Given the description of an element on the screen output the (x, y) to click on. 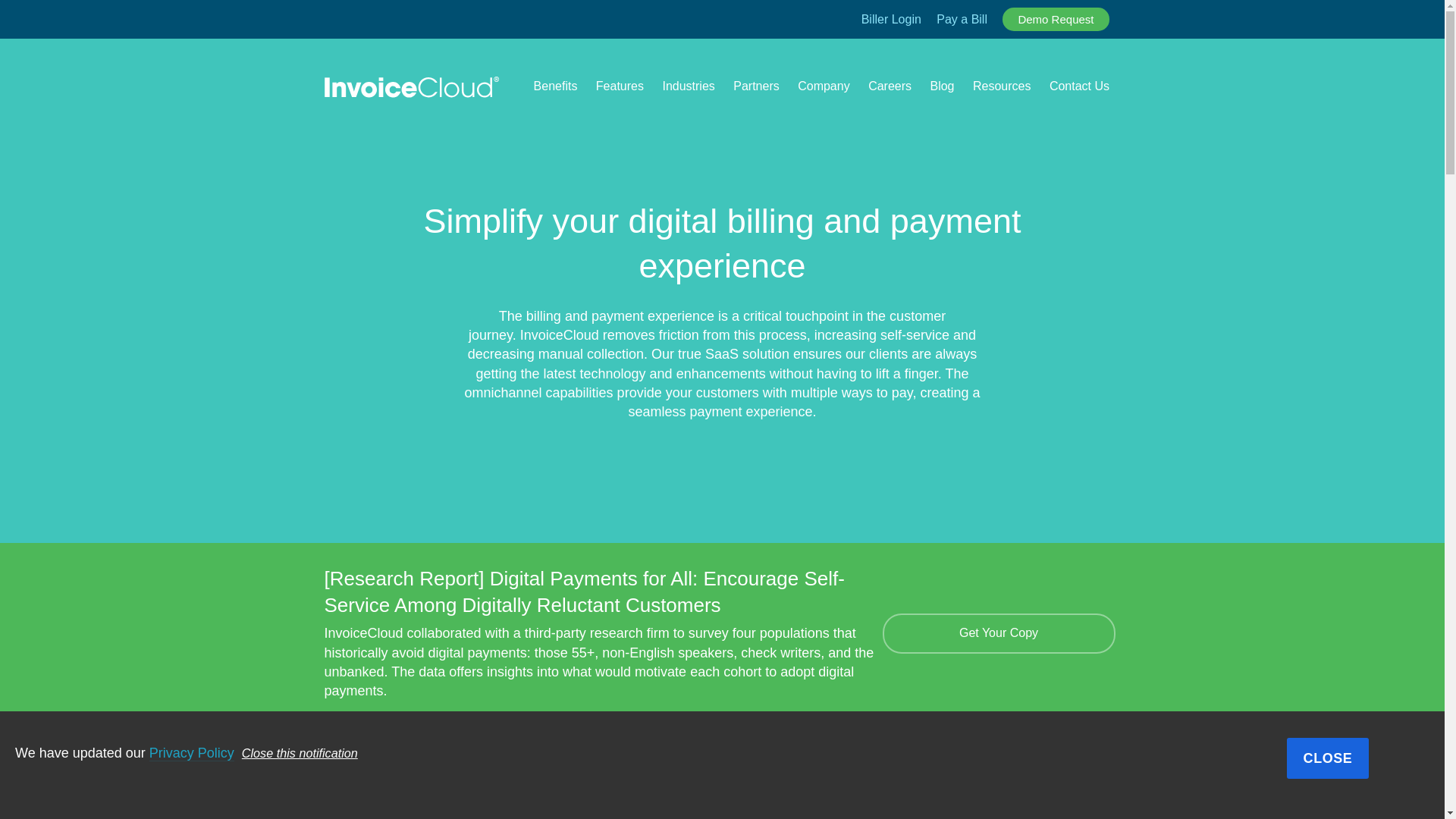
Contact Us (1079, 90)
Demo Request (1055, 19)
Pay a Bill (961, 19)
Company (822, 90)
Partners (755, 90)
Industries (688, 90)
Benefits (556, 90)
Careers (889, 90)
Biller Login (891, 19)
Blog (941, 90)
Resources (1001, 90)
Features (619, 90)
Get Your Copy (998, 633)
